Given the description of an element on the screen output the (x, y) to click on. 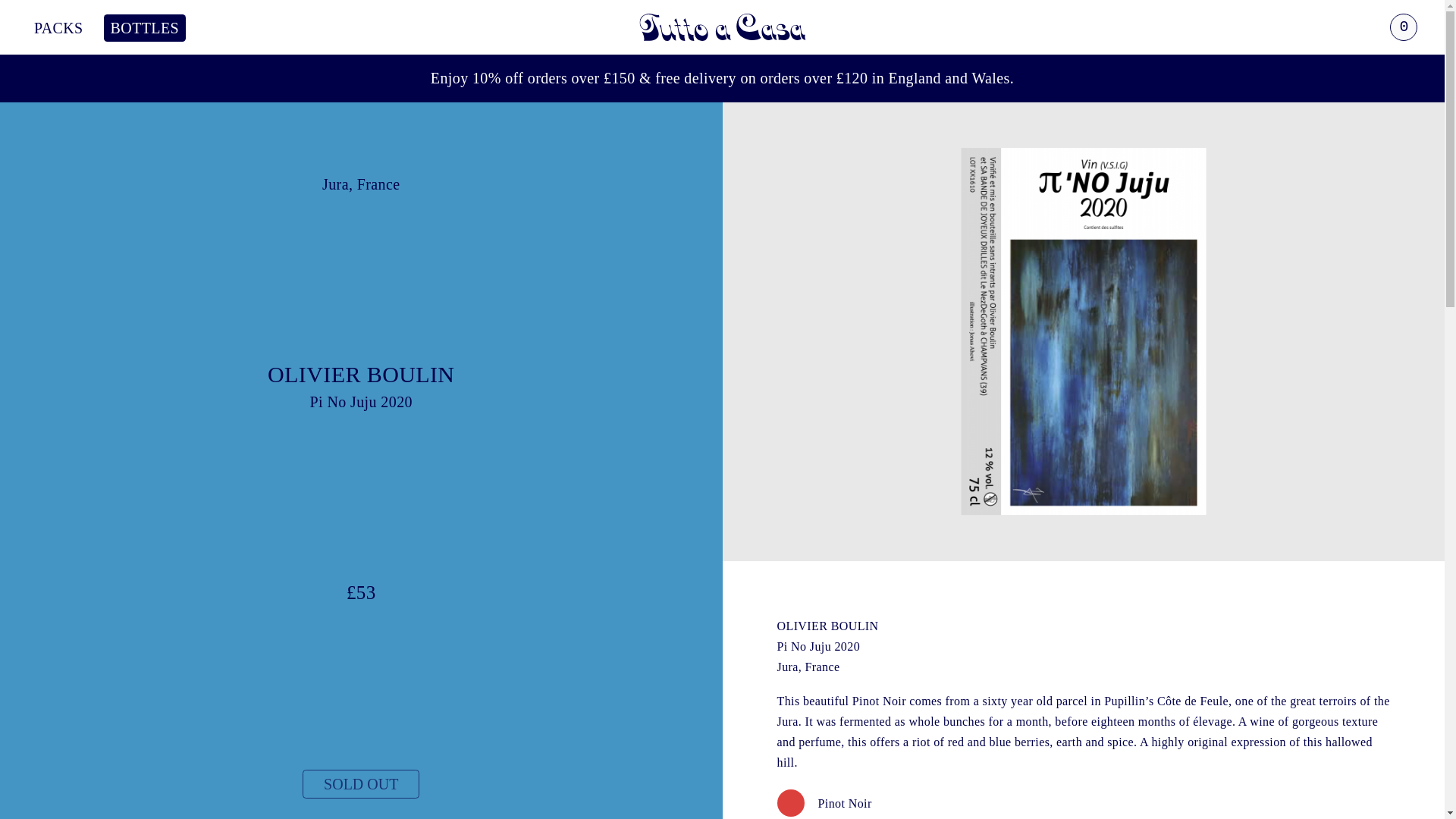
BOTTLES (144, 26)
PACKS (58, 26)
SOLD OUT (360, 783)
Tutto a Casa (722, 27)
